Given the description of an element on the screen output the (x, y) to click on. 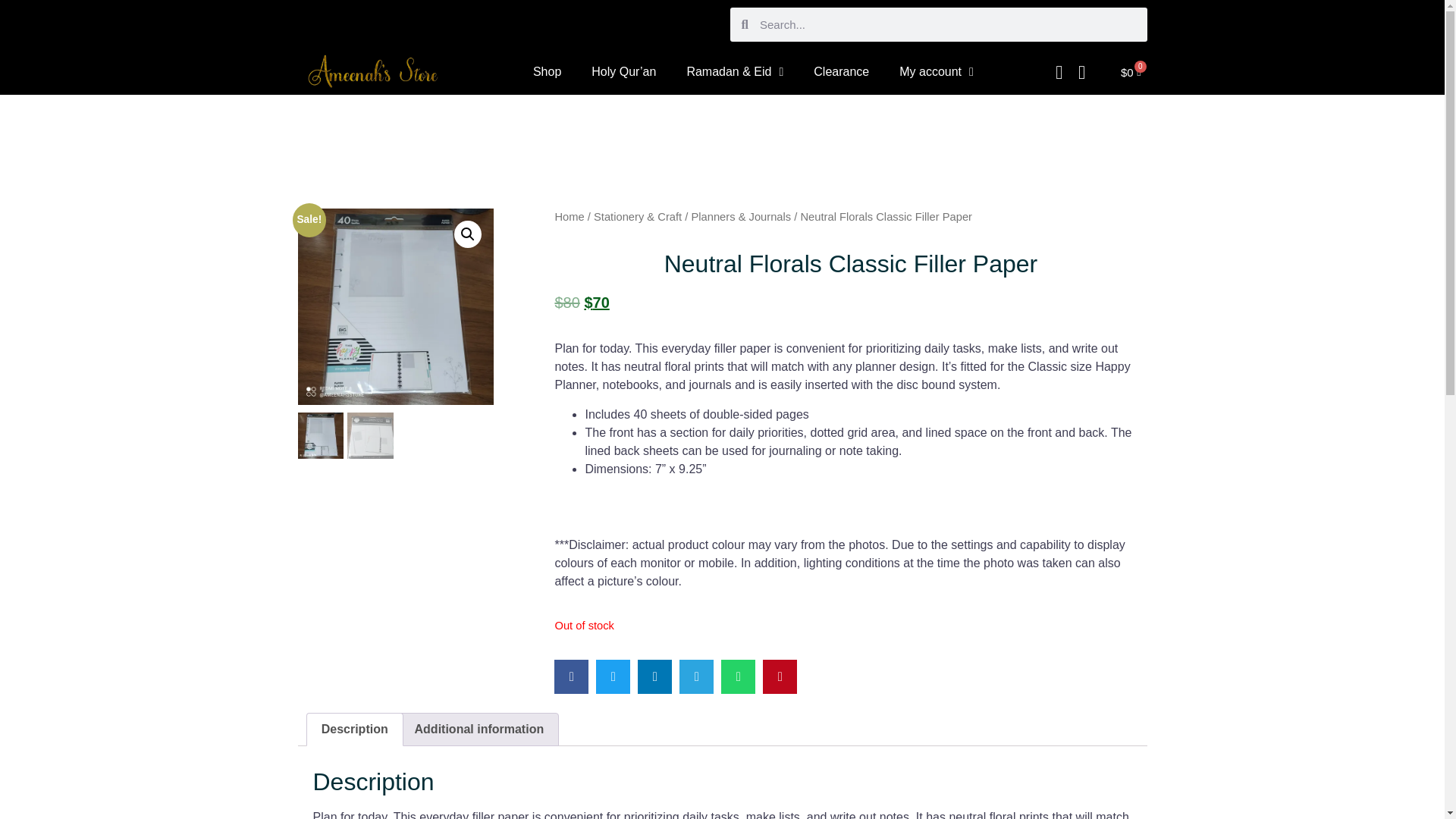
Additional information (477, 729)
Florals Classic Filler Paper (591, 306)
Florals Classic Filler Paper (395, 306)
Shop (547, 7)
Clearance (840, 27)
Description (353, 729)
My account (935, 31)
Home (568, 216)
